Given the description of an element on the screen output the (x, y) to click on. 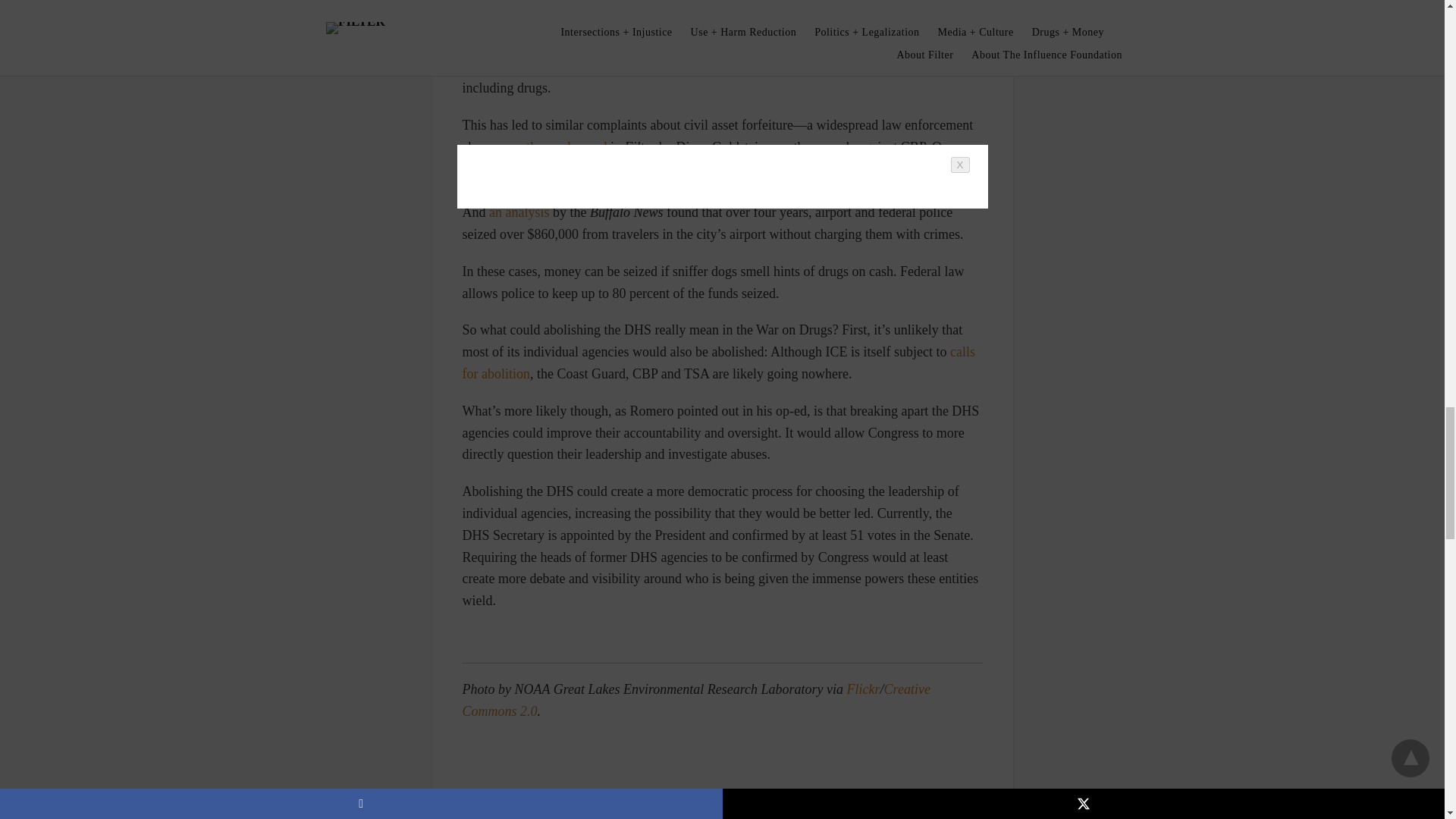
Twitter (507, 758)
Email (537, 758)
Facebook (478, 758)
recently condemned (551, 146)
